Given the description of an element on the screen output the (x, y) to click on. 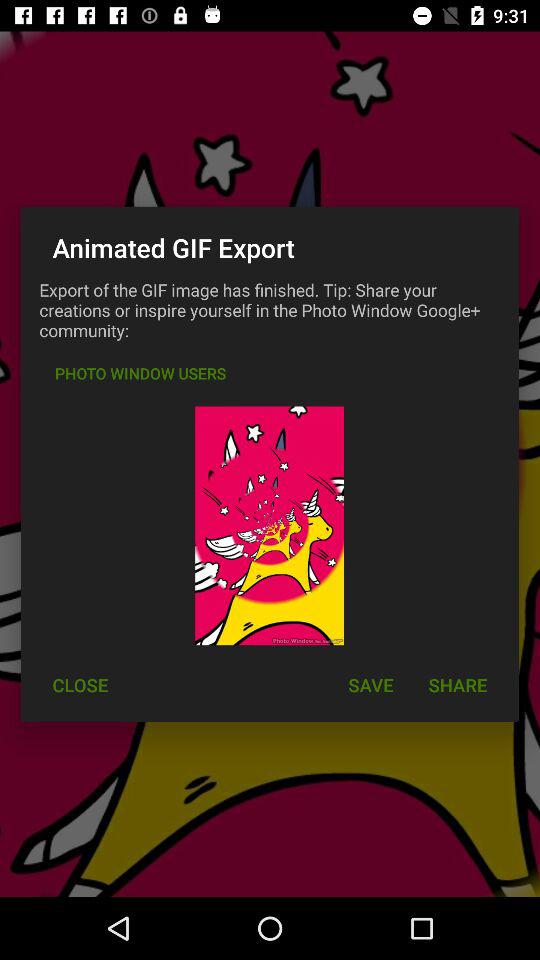
tap the icon to the right of the close (370, 684)
